Given the description of an element on the screen output the (x, y) to click on. 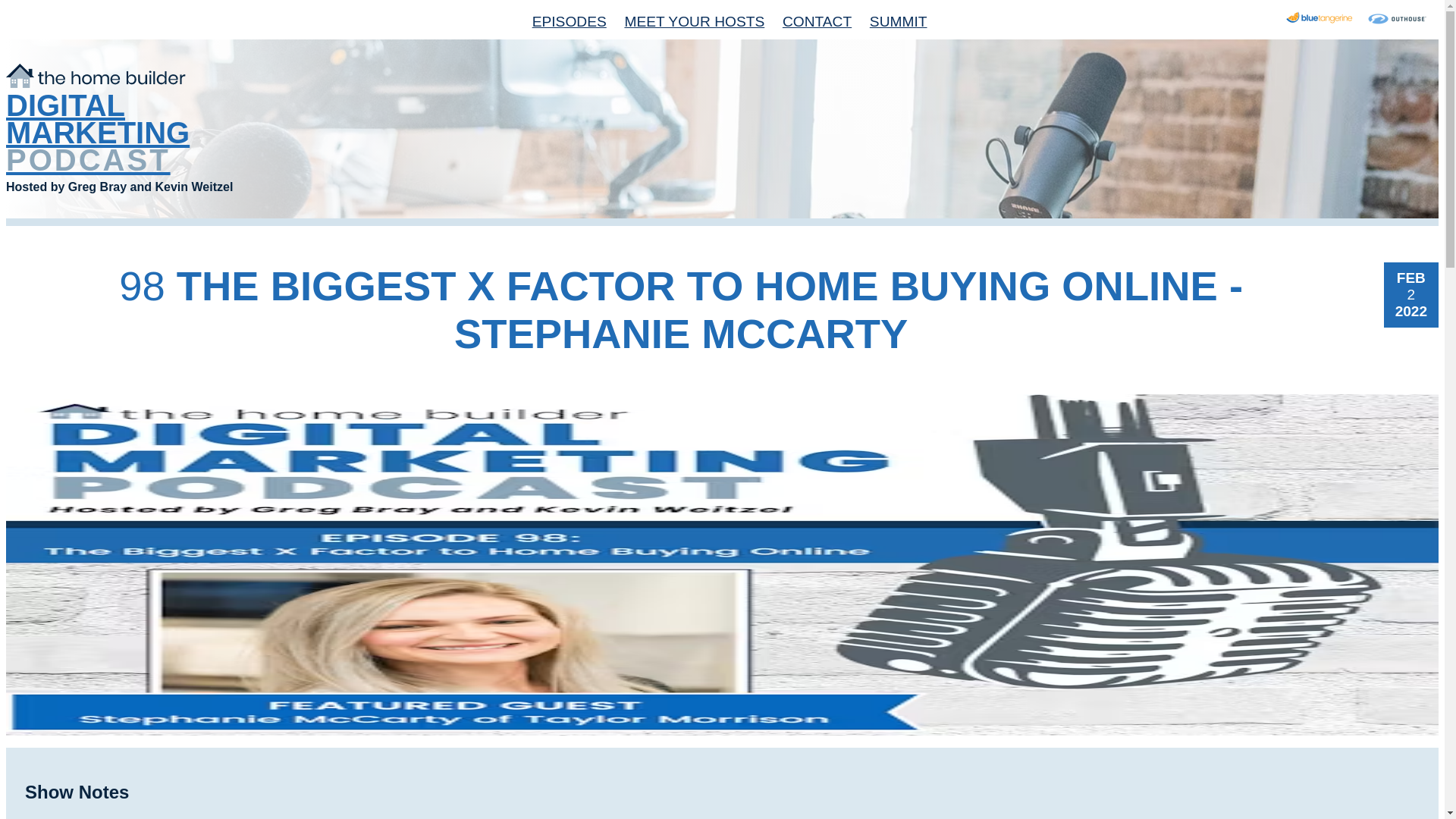
EPISODES (560, 22)
CONTACT (809, 22)
MEET YOUR HOSTS (687, 22)
SUMMIT (891, 22)
